Given the description of an element on the screen output the (x, y) to click on. 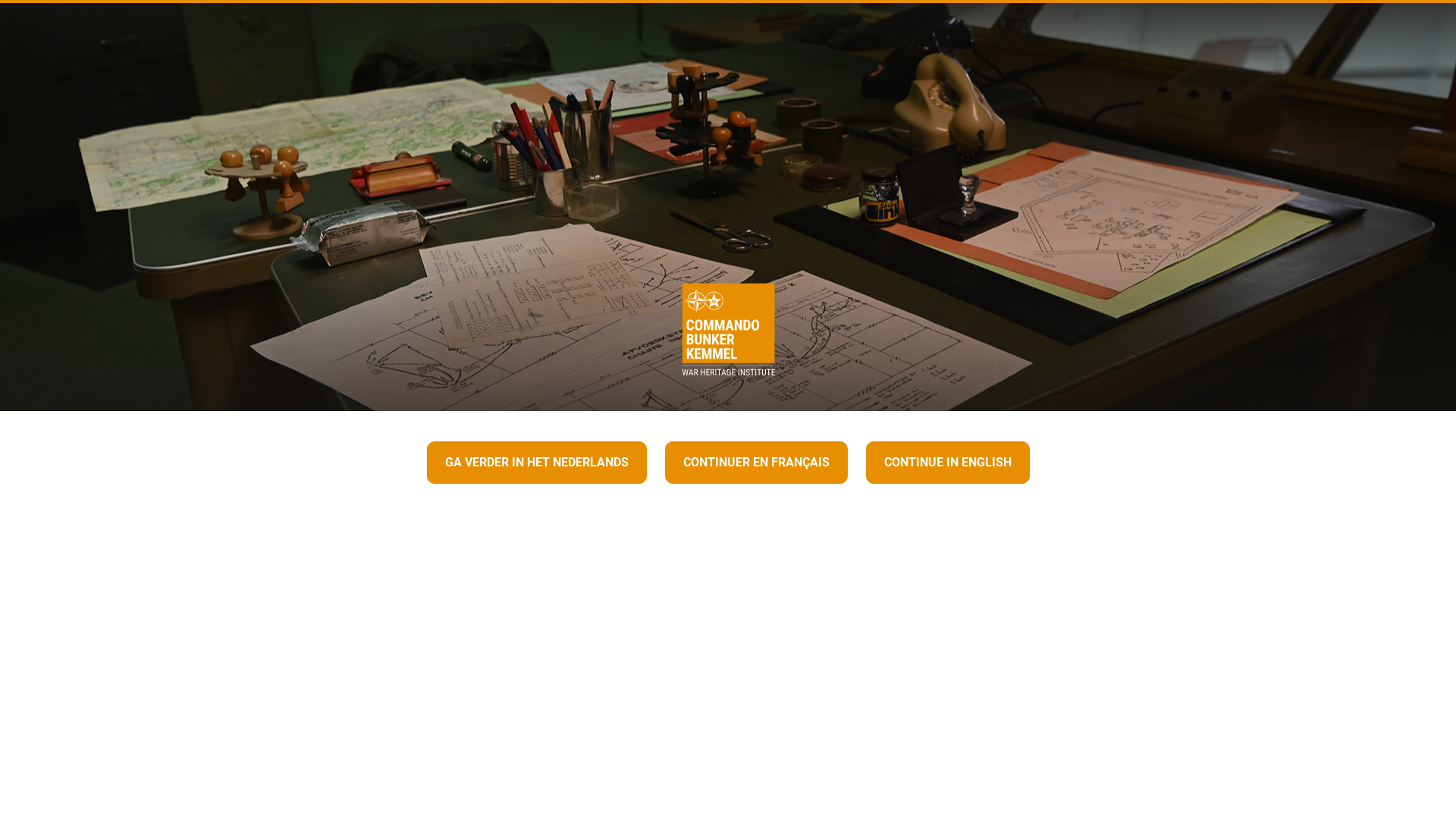
GA VERDER IN HET NEDERLANDS Element type: text (536, 462)
CONTINUE IN ENGLISH Element type: text (947, 462)
Overslaan en naar de inhoud gaan Element type: text (7, 4)
